Given the description of an element on the screen output the (x, y) to click on. 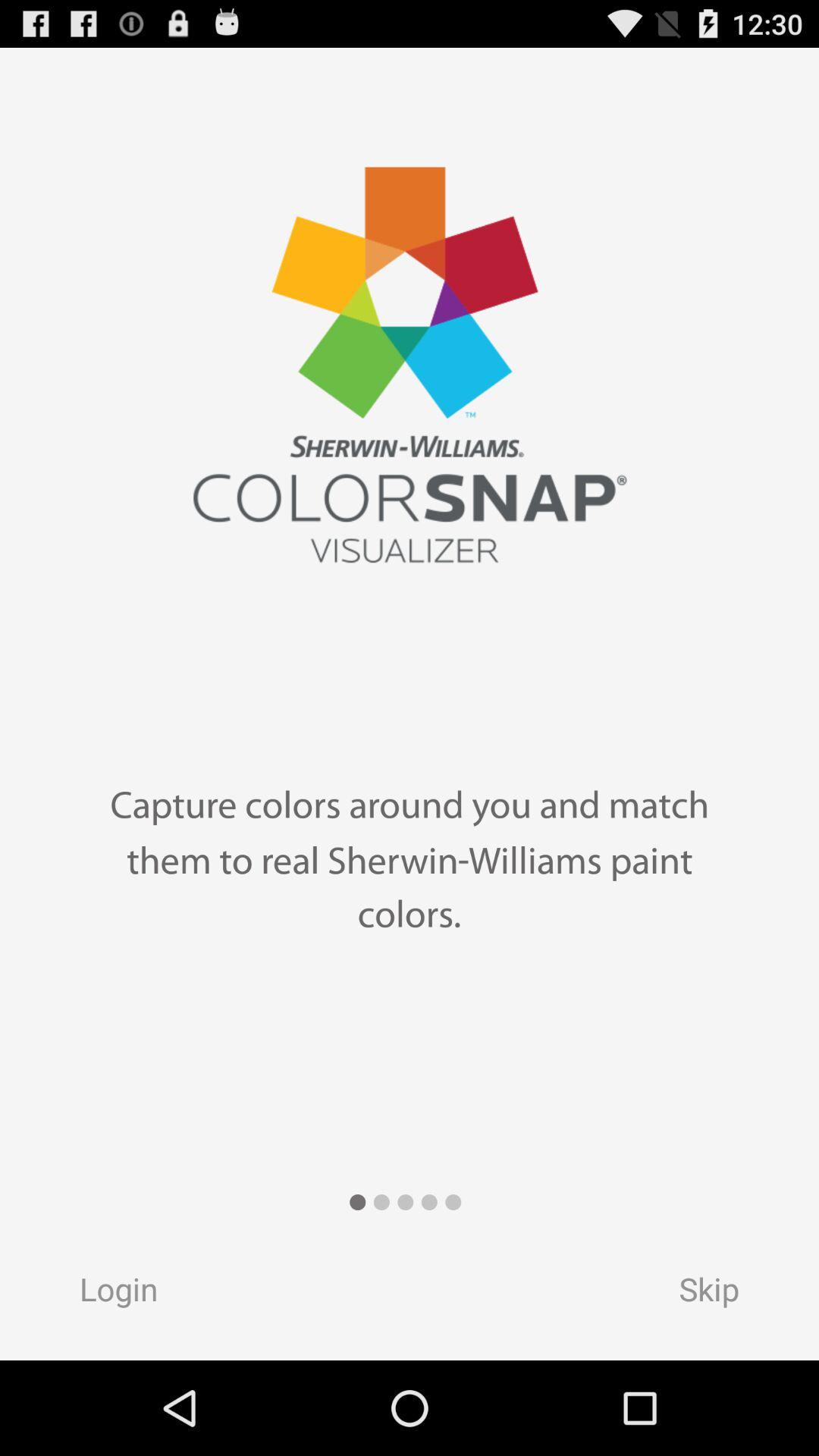
open button next to the login button (724, 1293)
